Given the description of an element on the screen output the (x, y) to click on. 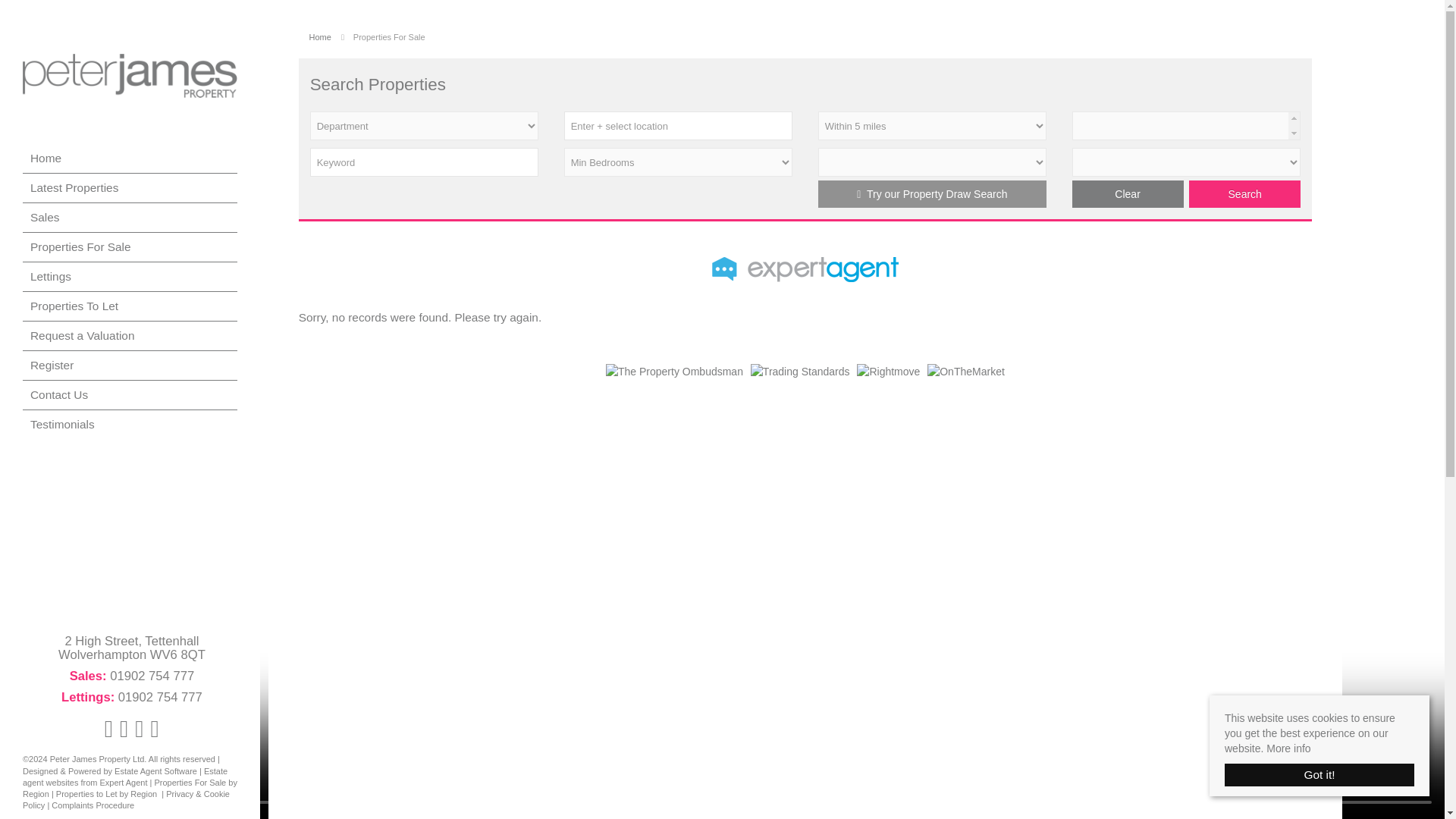
Testimonials (133, 424)
Home (319, 36)
Home (133, 158)
Contact Us (133, 394)
Sales (133, 217)
Properties To Let (133, 306)
Clear (1127, 194)
Estate Agent Software (155, 770)
Properties For Sale by Region (130, 788)
Search (1244, 194)
Properties For Sale (389, 36)
  Try our Property Draw Search (932, 194)
Lettings (133, 276)
Latest Properties (133, 187)
Properties For Sale (133, 246)
